Given the description of an element on the screen output the (x, y) to click on. 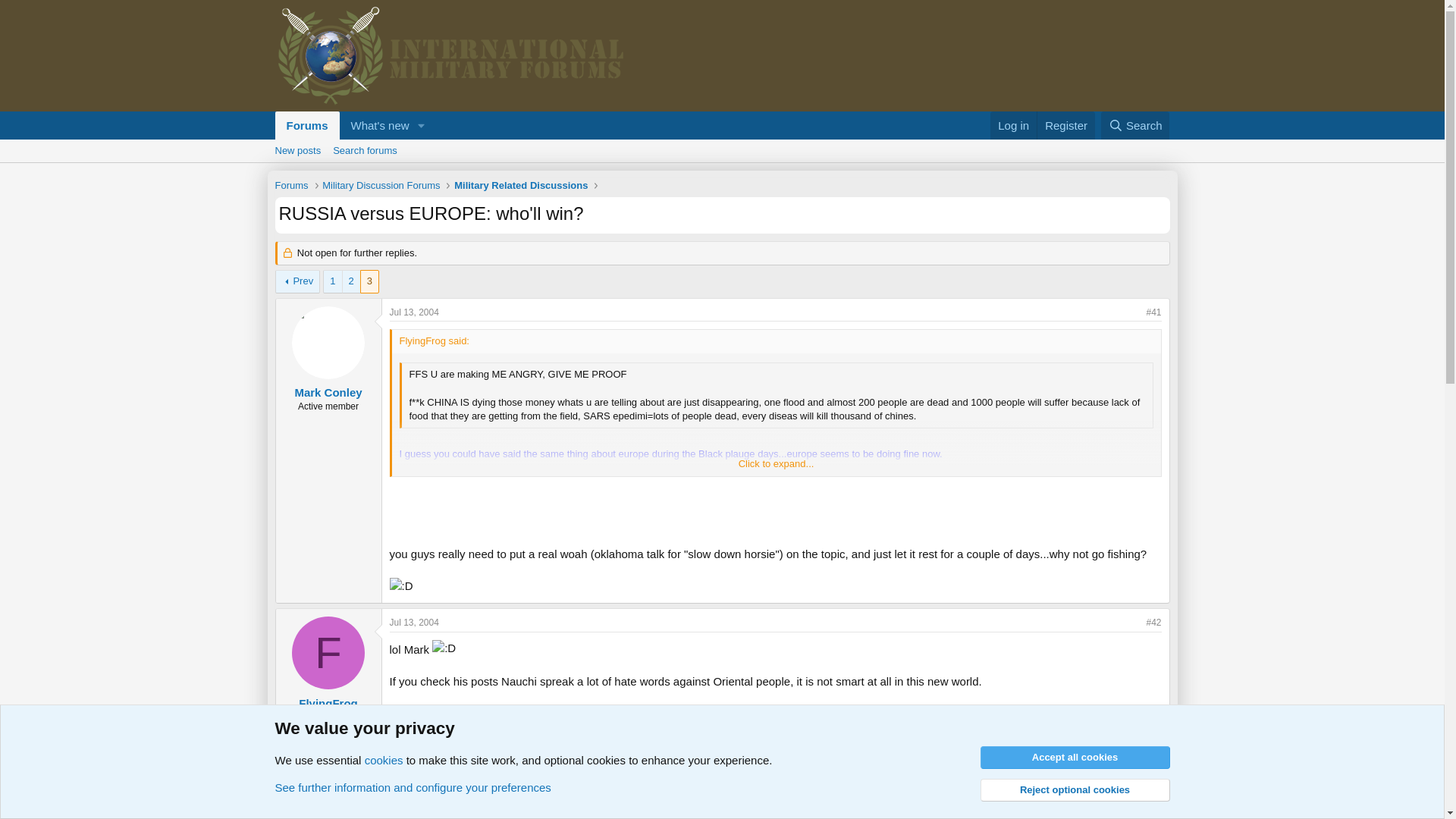
New posts (296, 150)
Jul 13, 2004 (414, 312)
Prev (297, 281)
Military Discussion Forums (381, 185)
Register (352, 142)
Forums (1065, 125)
What's new (290, 185)
Jul 14, 2004 at 9:22 AM (374, 125)
Big grin    :D (414, 813)
Jul 13, 2004 at 7:11 PM (443, 647)
Search (414, 622)
Big grin    :D (352, 125)
Search forums (1135, 125)
